Given the description of an element on the screen output the (x, y) to click on. 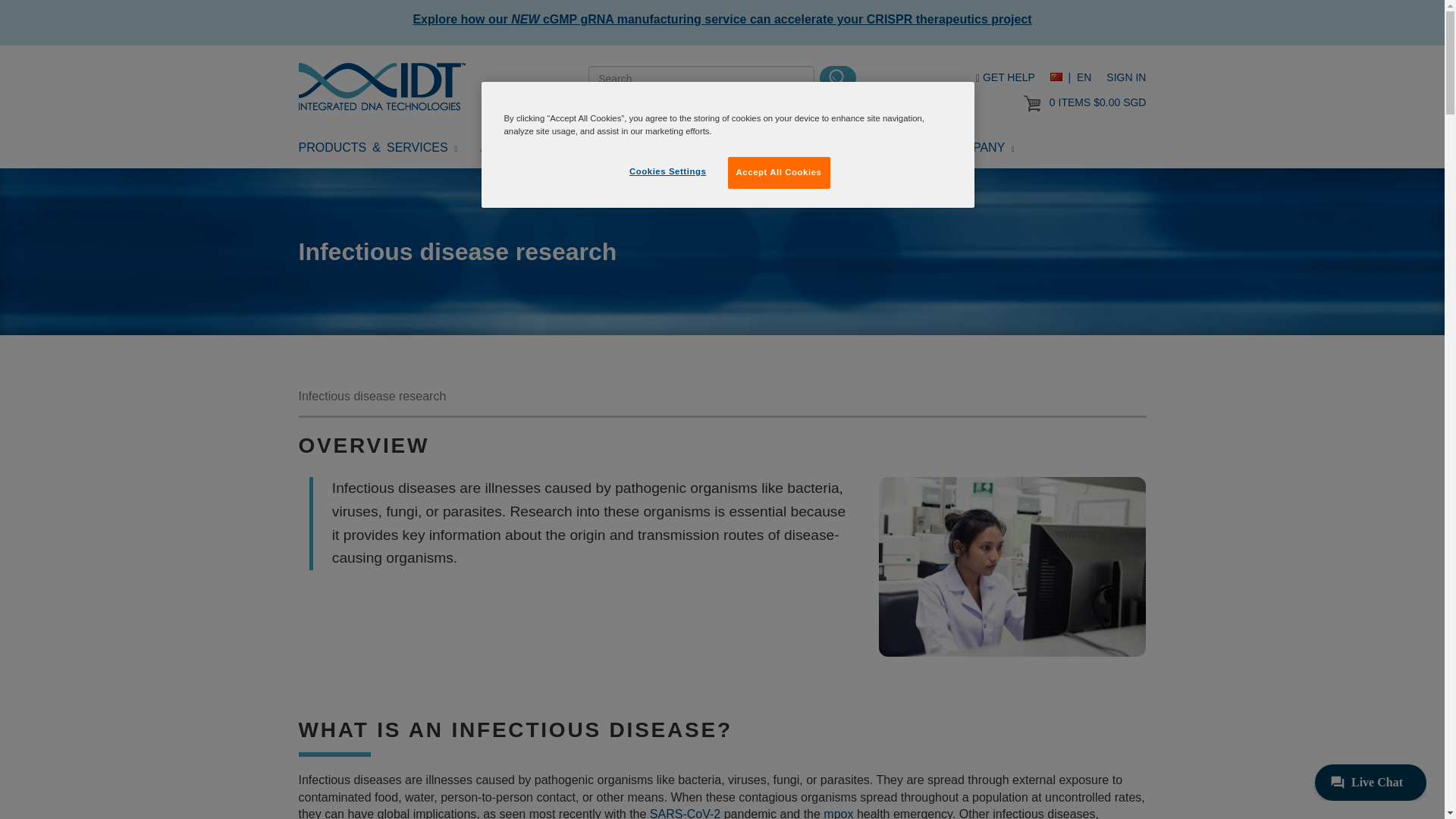
Gene expression analysis in lab (1013, 566)
GET HELP (1005, 77)
SIGN IN (1125, 77)
Not Logged In 644 (1032, 103)
Integrated DNA Technologies (381, 86)
Search input (700, 78)
